Given the description of an element on the screen output the (x, y) to click on. 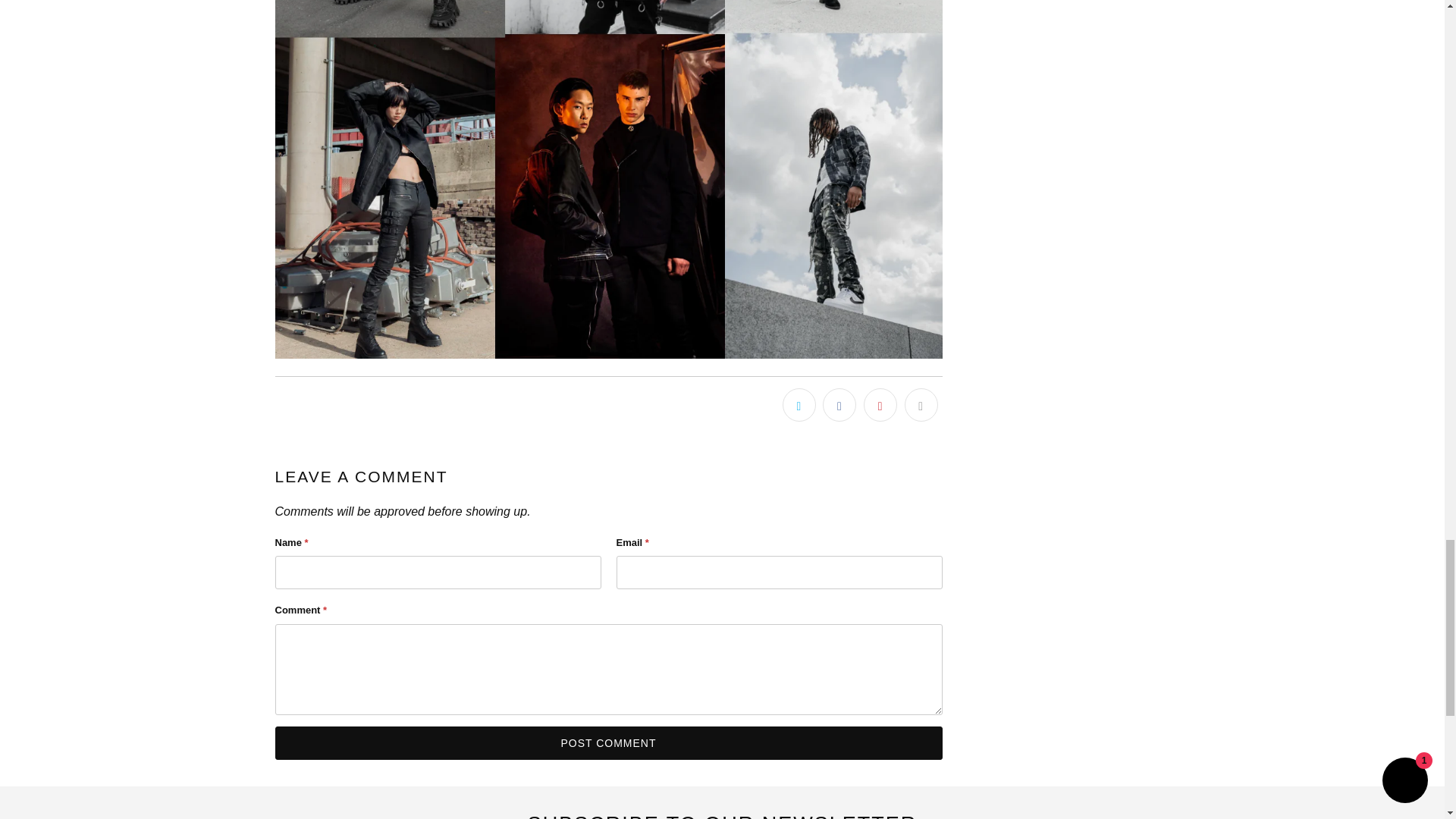
Share this on Facebook (839, 404)
Share this on Twitter (799, 404)
Post comment (608, 743)
Email this to a friend (920, 404)
Share this on Pinterest (879, 404)
